Given the description of an element on the screen output the (x, y) to click on. 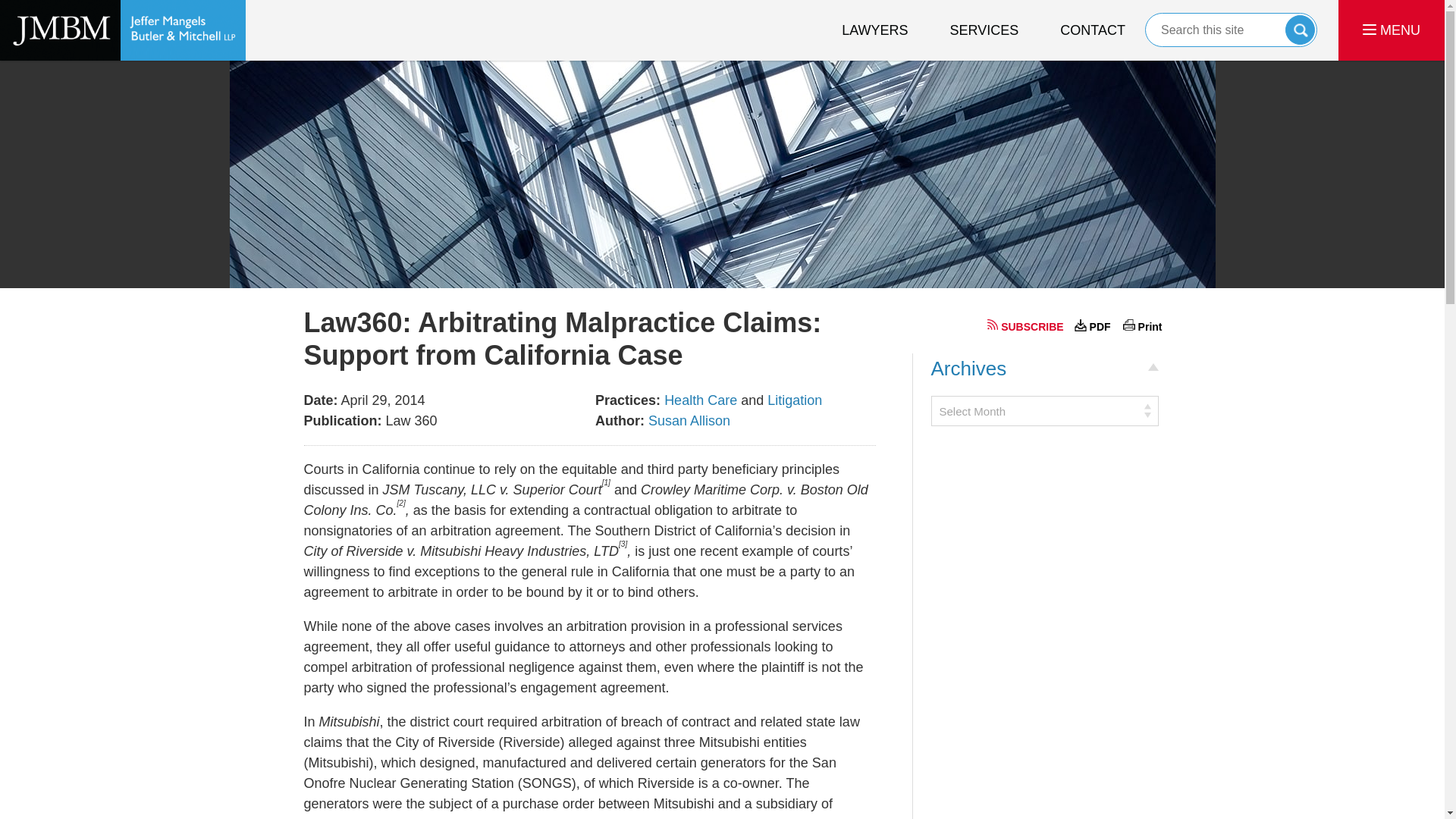
Search (1230, 29)
Back to Home (123, 30)
